Given the description of an element on the screen output the (x, y) to click on. 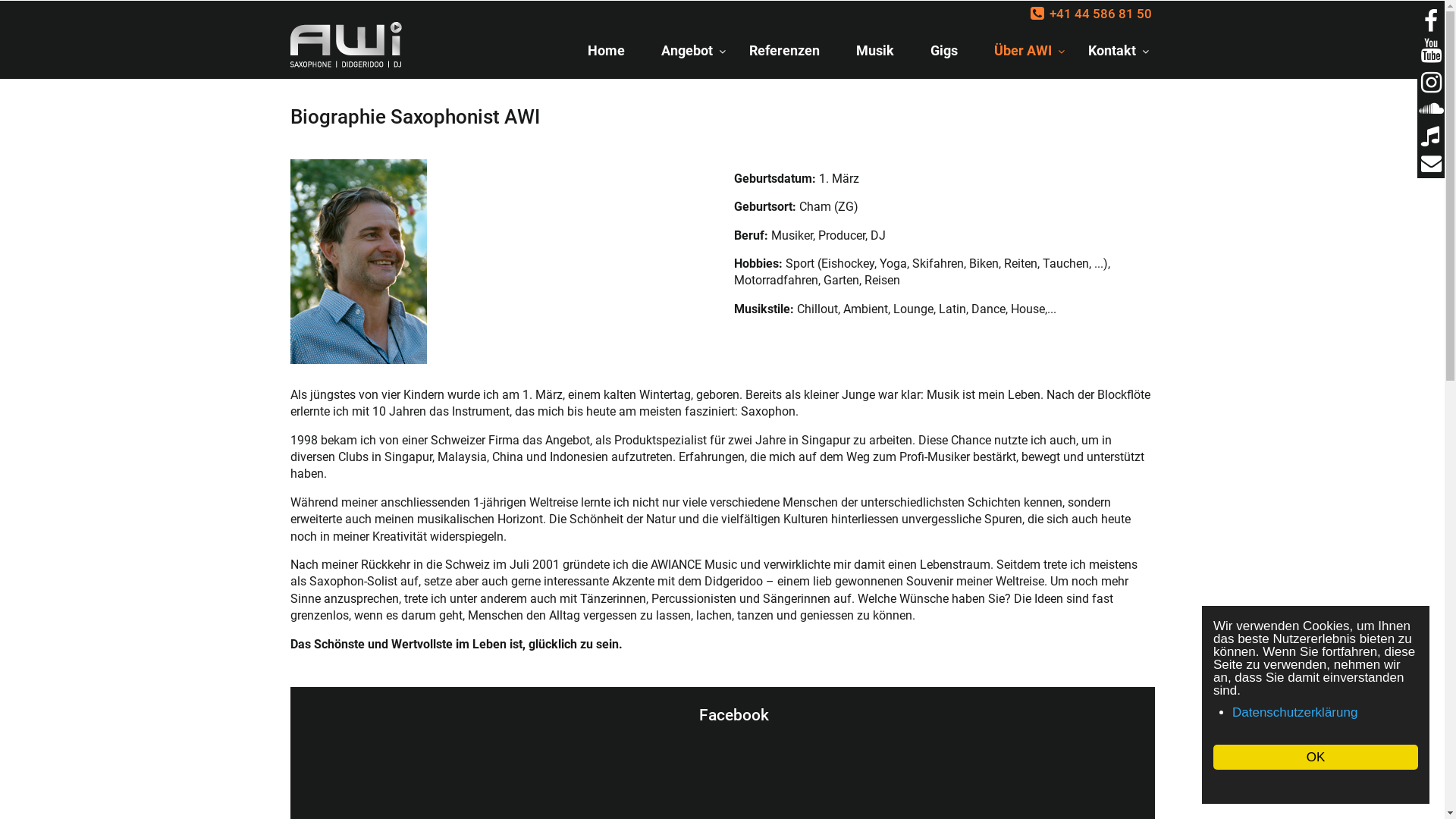
Gigs Element type: text (943, 50)
Musik Element type: text (874, 50)
Angebot Element type: text (687, 50)
Saxophonist Musiker und DJ - AWI Element type: hover (351, 44)
Kontakt Element type: text (1112, 50)
OK Element type: text (1315, 756)
Home Element type: text (606, 50)
+41 44 586 81 50 Element type: text (1090, 13)
Referenzen Element type: text (784, 50)
